Given the description of an element on the screen output the (x, y) to click on. 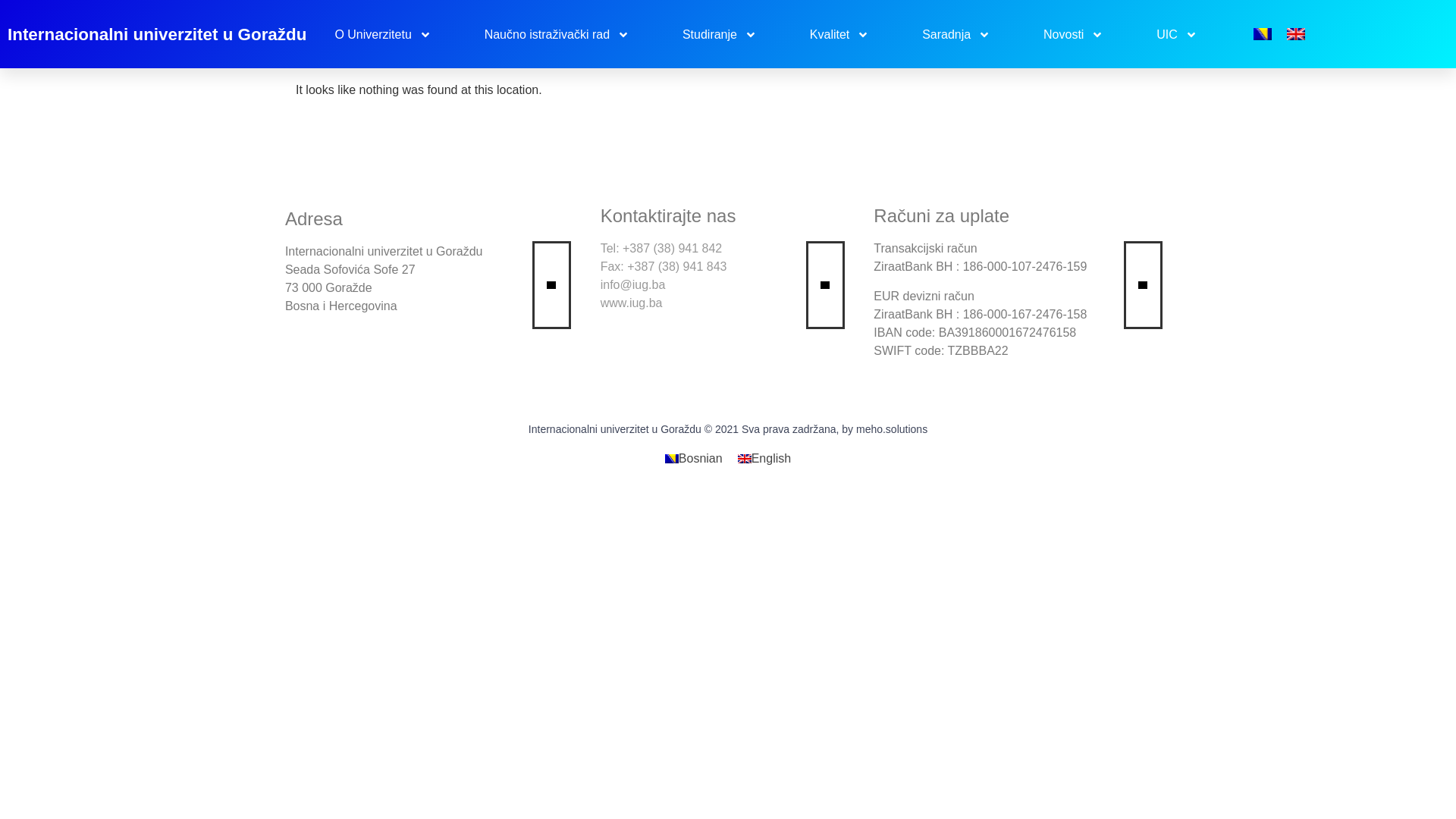
Studiranje Element type: text (719, 34)
info@iug.ba Element type: text (632, 284)
+387 (38) 941 842 Element type: text (671, 247)
Bosnian Element type: text (693, 458)
Saradnja Element type: text (956, 34)
O Univerzitetu Element type: text (382, 34)
+387 (38) 941 843 Element type: text (676, 266)
Novosti Element type: text (1073, 34)
www.iug.ba Element type: text (631, 302)
English Element type: text (764, 458)
UIC Element type: text (1176, 34)
Kvalitet Element type: text (838, 34)
